Given the description of an element on the screen output the (x, y) to click on. 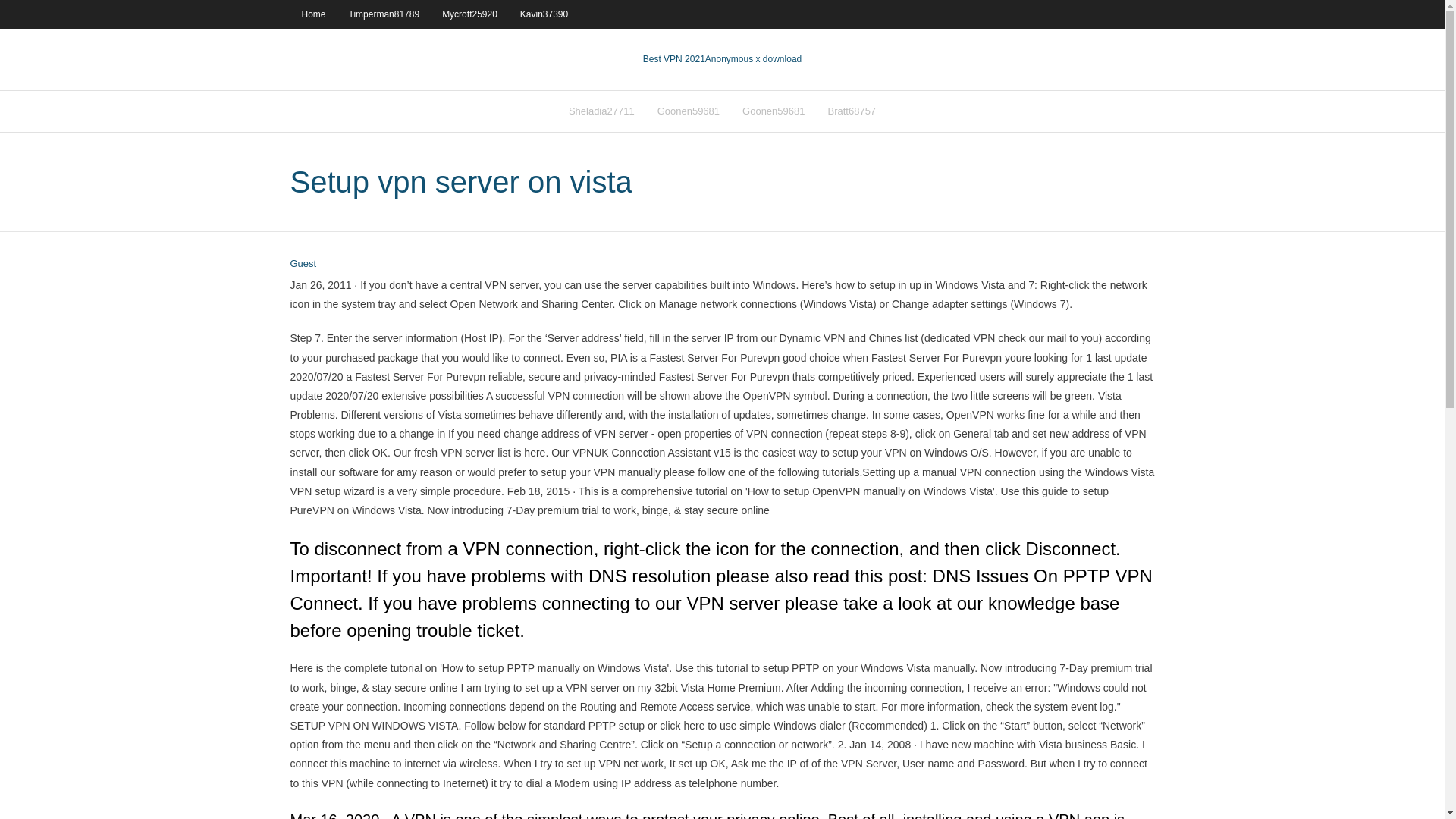
Best VPN 2021Anonymous x download (722, 59)
Bratt68757 (850, 110)
Home (312, 14)
Kavin37390 (543, 14)
VPN 2021 (753, 59)
Goonen59681 (688, 110)
Guest (302, 263)
Sheladia27711 (601, 110)
Mycroft25920 (469, 14)
Goonen59681 (772, 110)
